Given the description of an element on the screen output the (x, y) to click on. 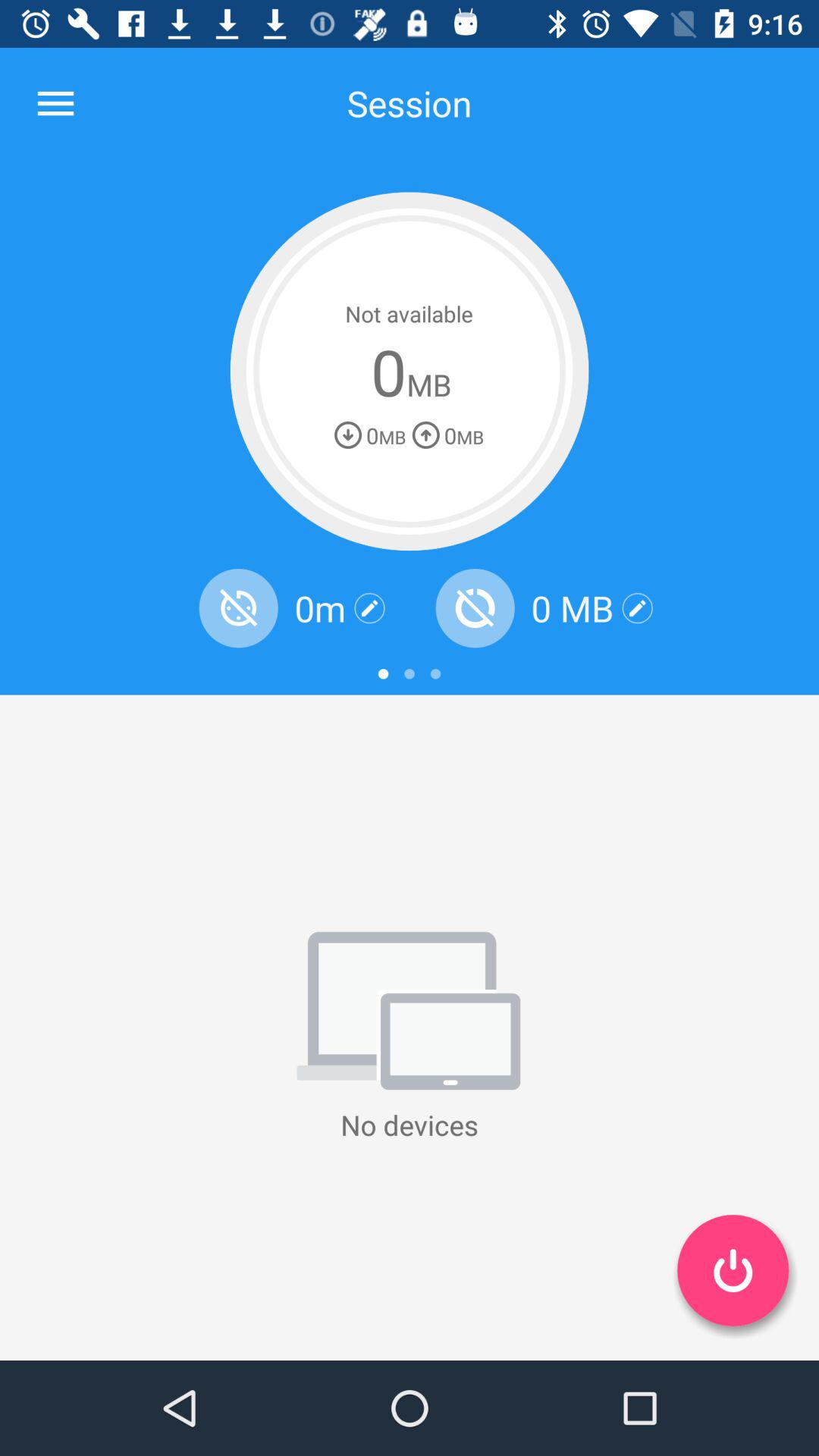
edit mb limit (637, 608)
